Given the description of an element on the screen output the (x, y) to click on. 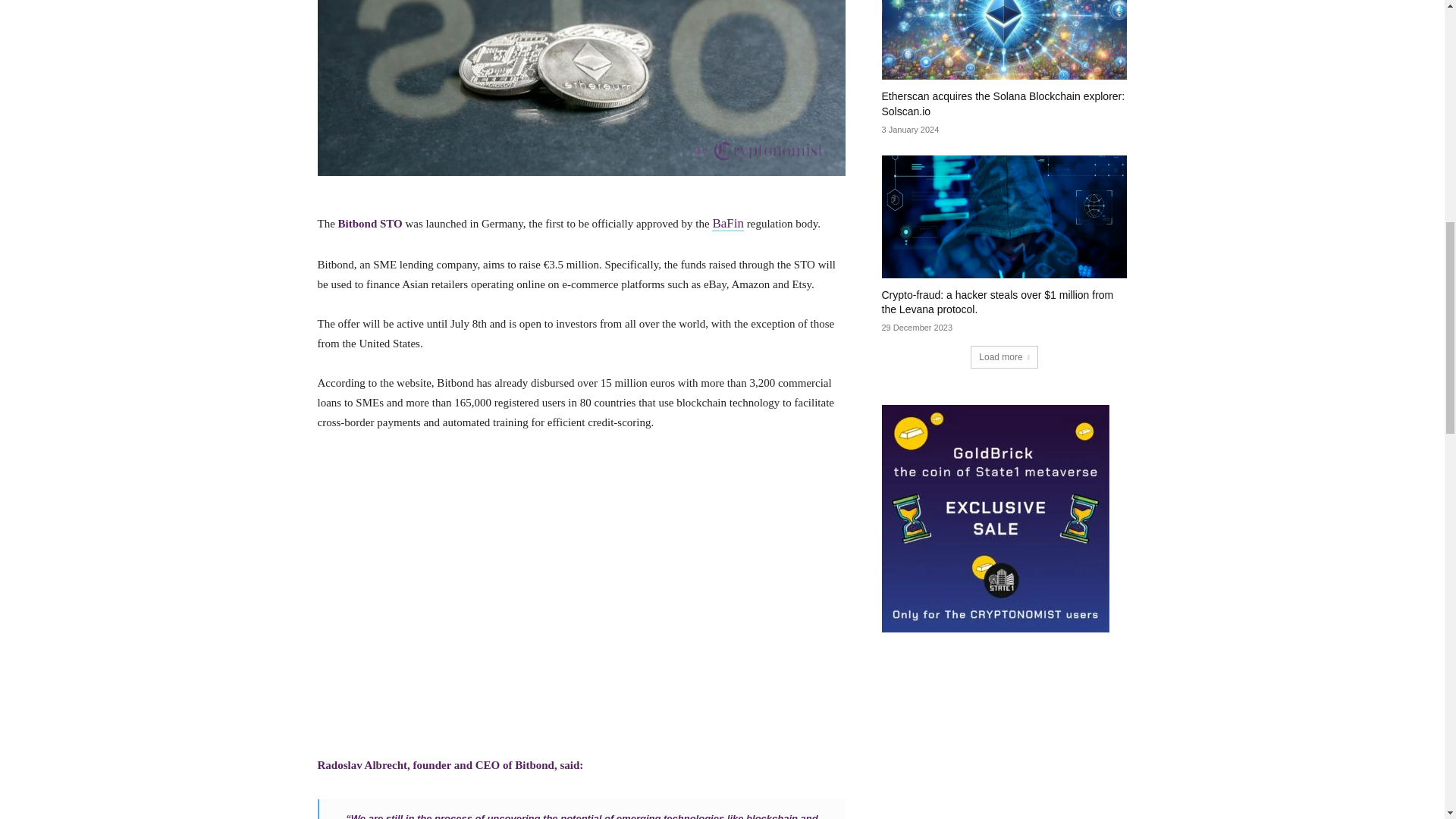
regulation-bitbond-sto.jpg (580, 88)
